Given the description of an element on the screen output the (x, y) to click on. 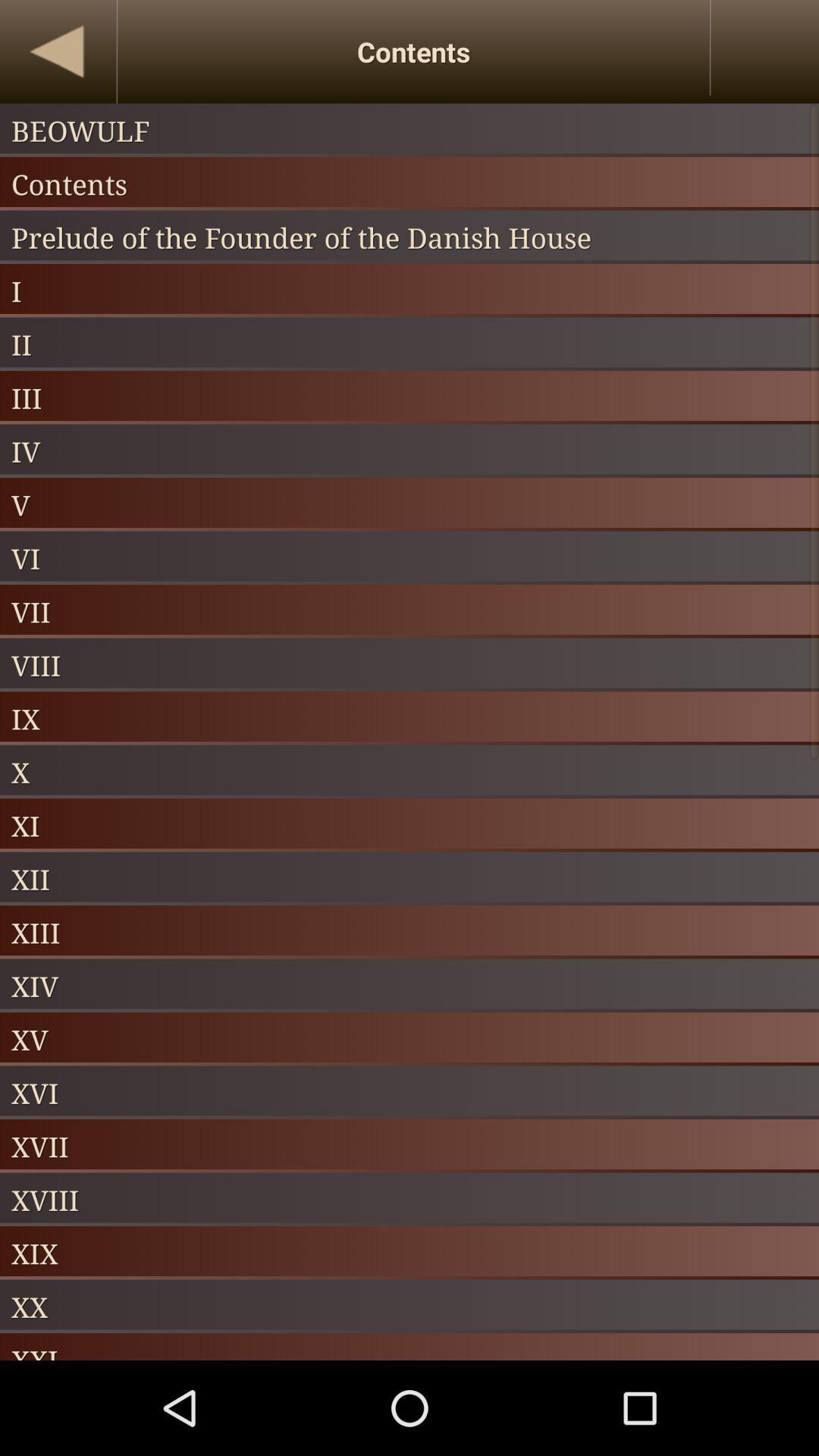
swipe to xv item (409, 1039)
